Given the description of an element on the screen output the (x, y) to click on. 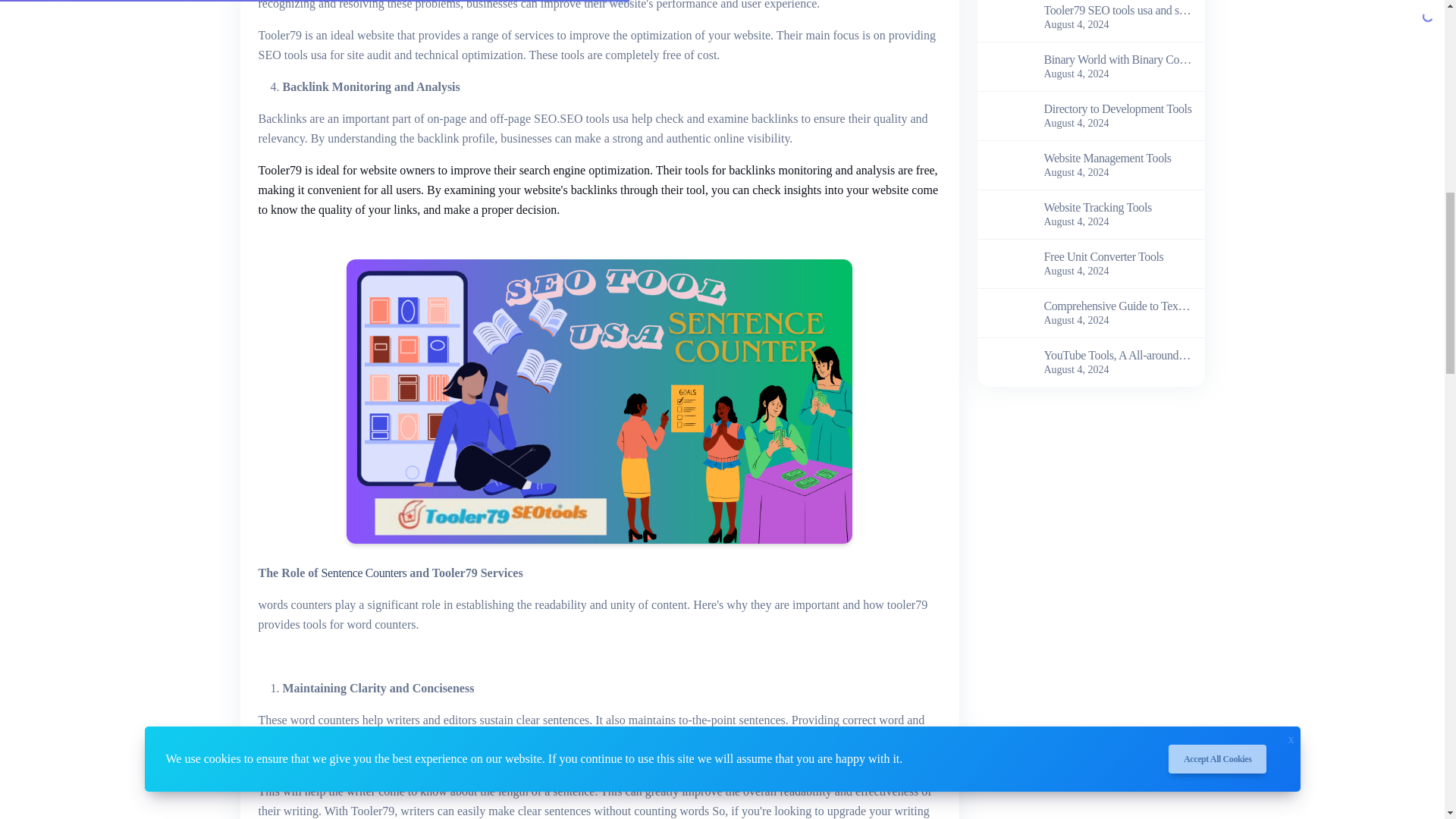
 Directory to Development Tools  (1006, 114)
Tooler79 SEO tools usa and sentence counter (1006, 15)
Tooler79 SEO tools usa and sentence counter (1117, 10)
Sentence Counters (364, 572)
 Binary World with Binary Converter Tools (1117, 59)
 Binary World with Binary Converter Tools (1006, 65)
